Given the description of an element on the screen output the (x, y) to click on. 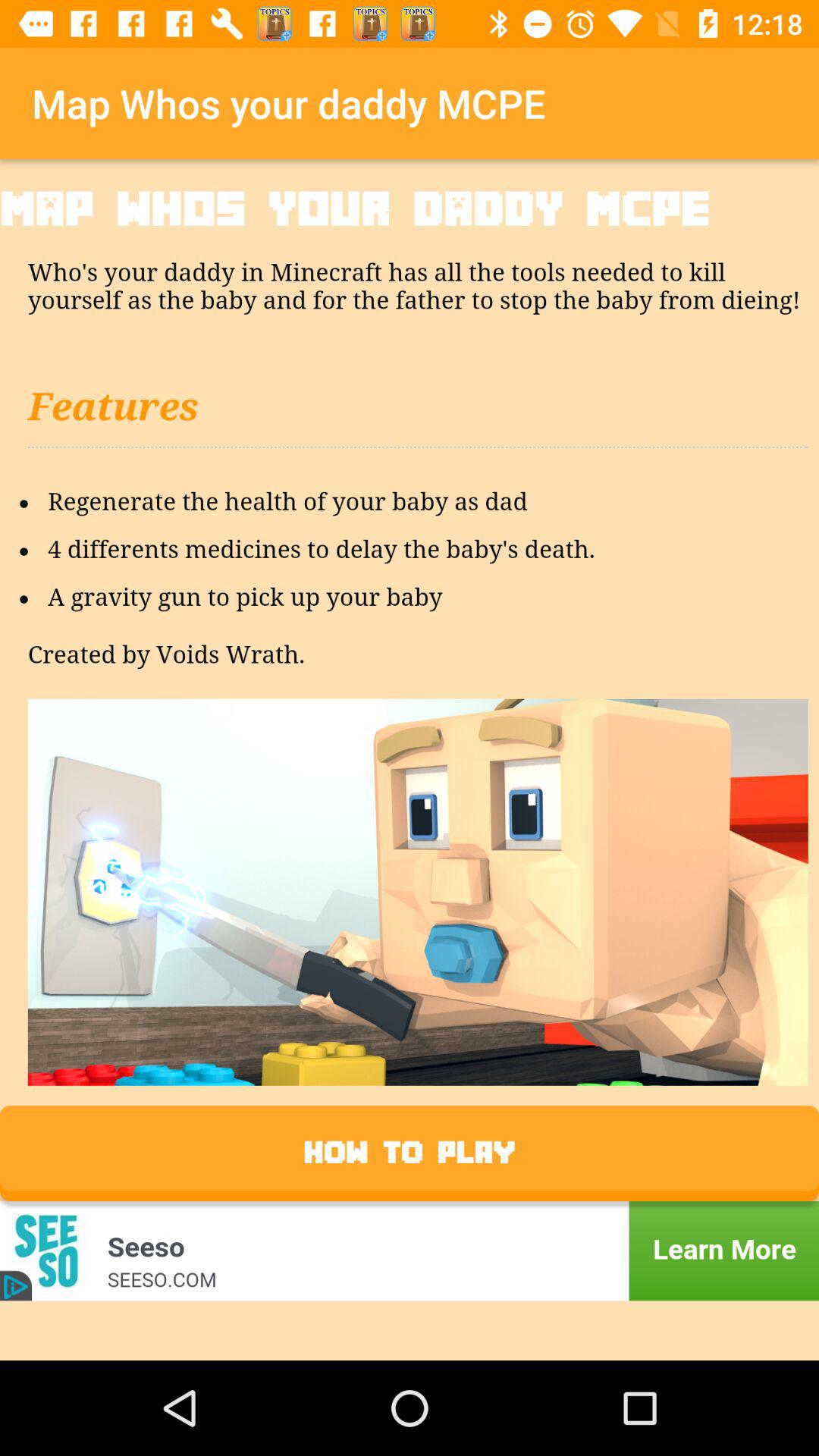
open advertisement (409, 1250)
